Given the description of an element on the screen output the (x, y) to click on. 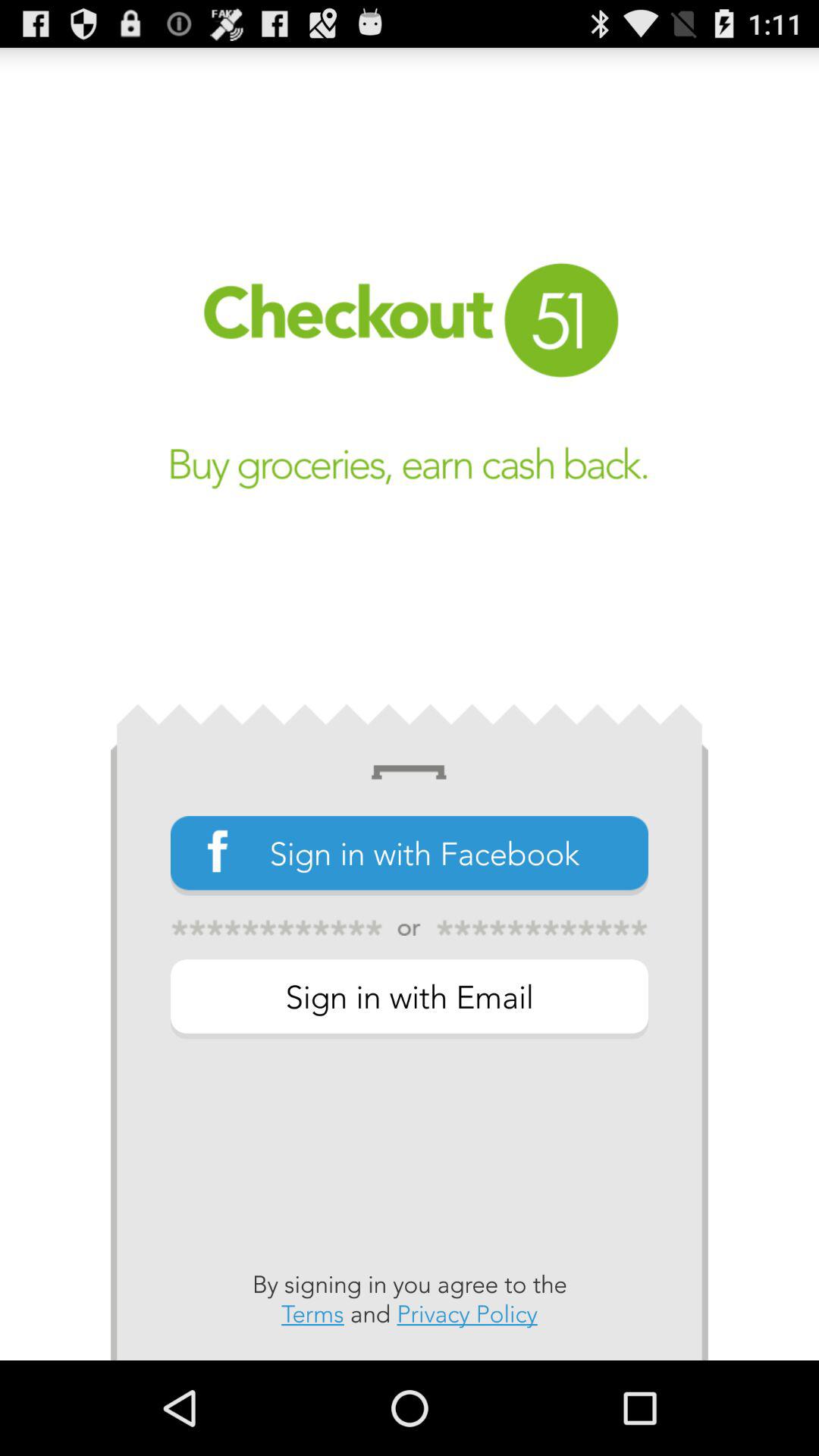
tap by signing in app (409, 1299)
